Given the description of an element on the screen output the (x, y) to click on. 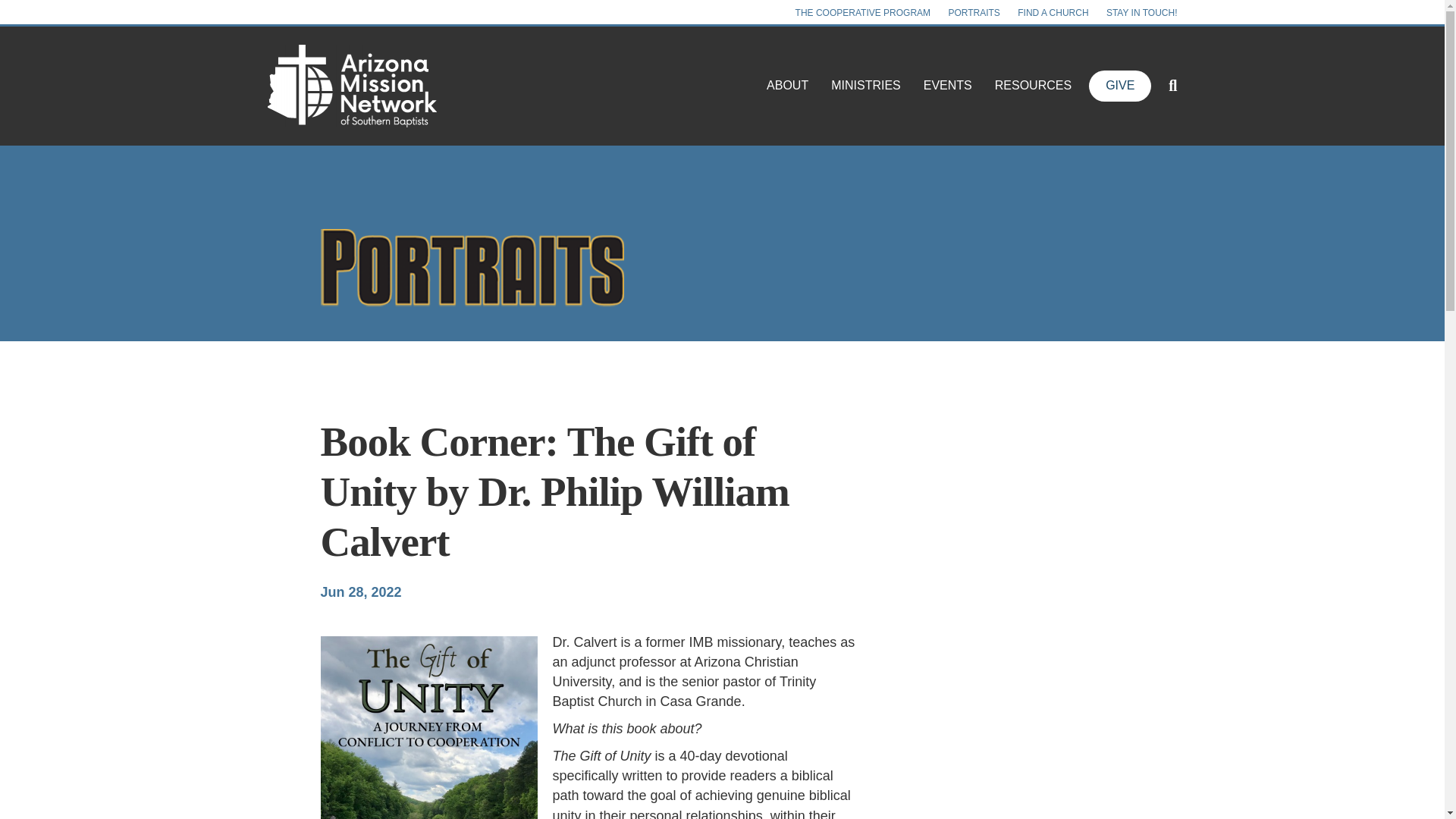
ABOUT (787, 85)
GIVE (1120, 85)
RESOURCES (1033, 85)
MINISTRIES (865, 85)
PORTRAITS (973, 13)
FIND A CHURCH (1053, 13)
STAY IN TOUCH! (1142, 13)
EVENTS (948, 85)
THE COOPERATIVE PROGRAM (862, 13)
